Given the description of an element on the screen output the (x, y) to click on. 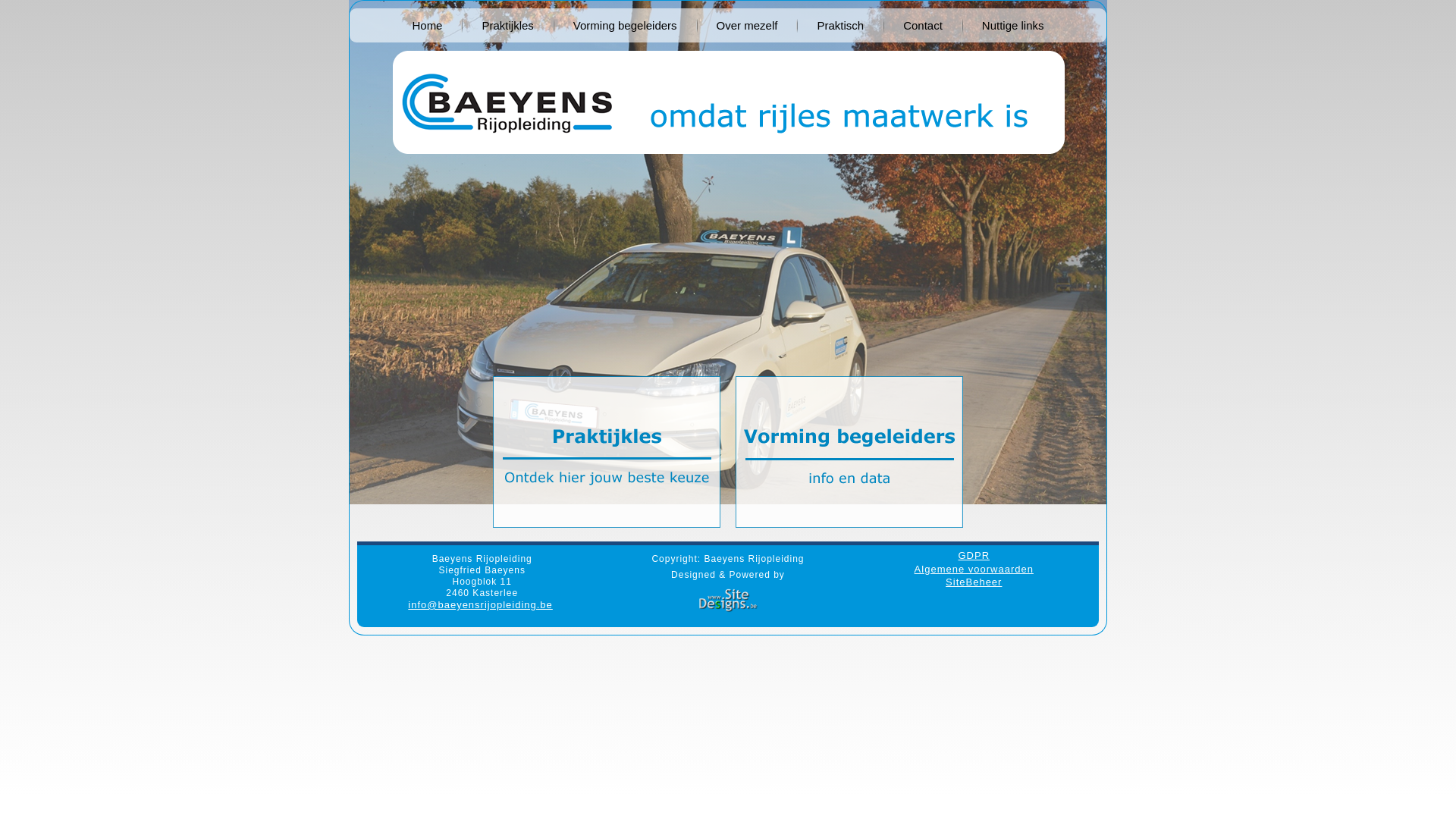
Home Element type: text (426, 25)
SiteBeheer Element type: text (973, 581)
Praktijkles Element type: text (507, 25)
Algemene voorwaarden Element type: text (973, 568)
Praktisch Element type: text (839, 25)
info@baeyensrijopleiding.be Element type: text (479, 604)
Vorming begeleiders Element type: text (625, 25)
GDPR Element type: text (973, 555)
Nuttige links Element type: text (1013, 25)
Contact Element type: text (922, 25)
Over mezelf Element type: text (747, 25)
